Given the description of an element on the screen output the (x, y) to click on. 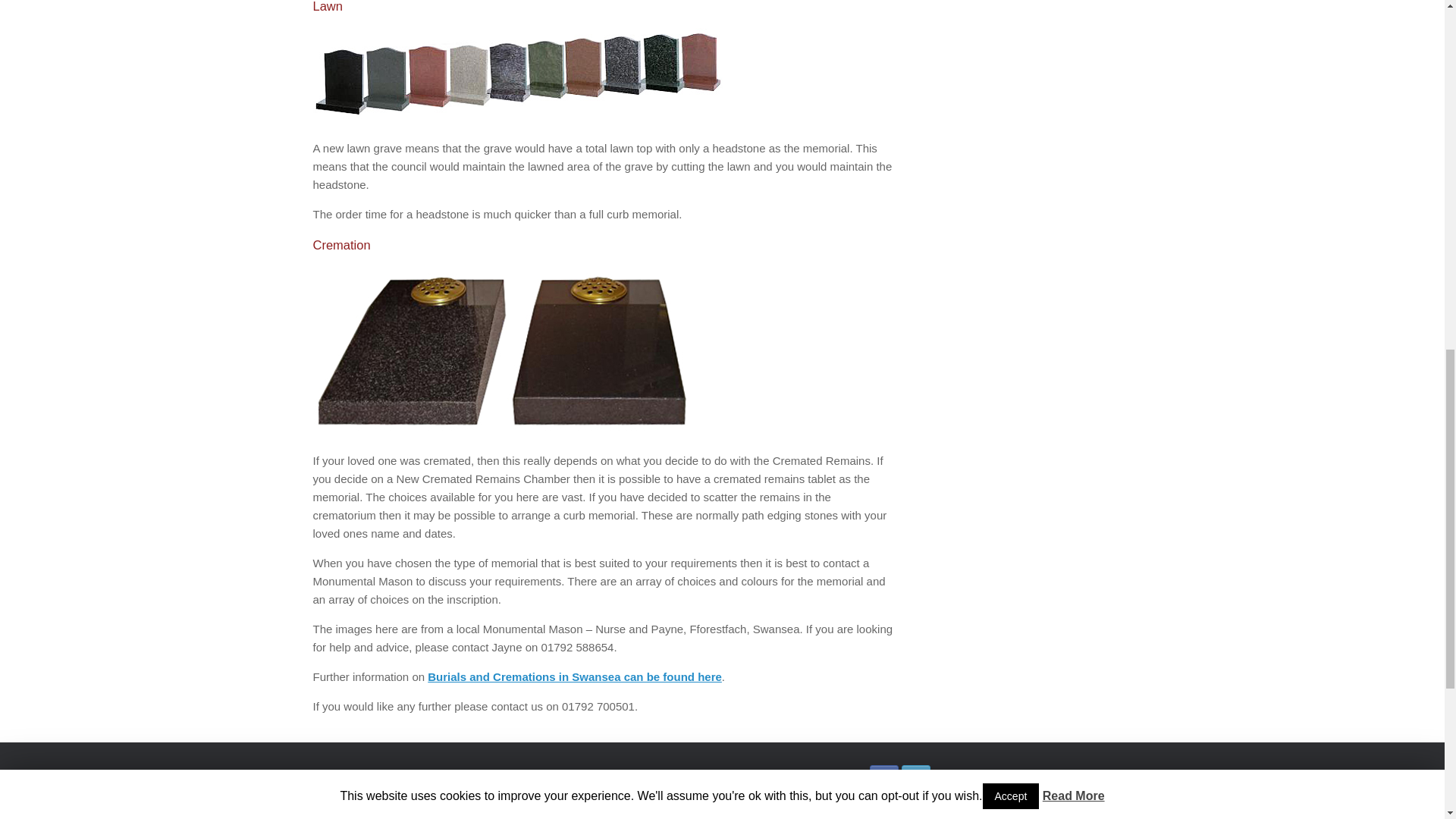
About us (615, 774)
Our Funeral Directors Price List (665, 794)
Funeral Directors, Swansea - Sims and Jones Facebook (883, 778)
Burials and Cremations in Swansea can be found here (575, 676)
Funeral Directors, Swansea - Sims and Jones Twitter (915, 778)
Standardised Price List (647, 813)
